Given the description of an element on the screen output the (x, y) to click on. 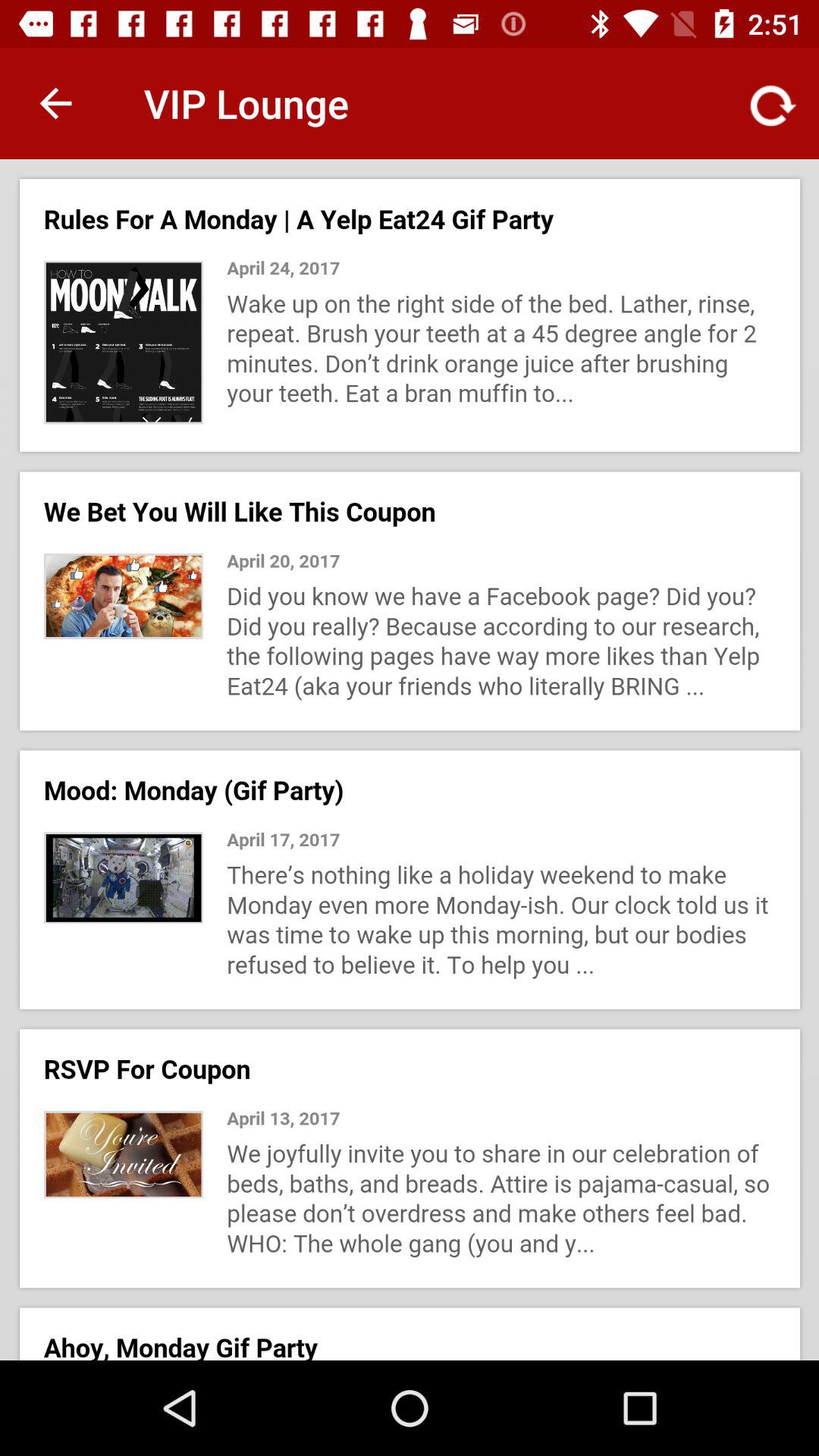
order food for delivery or pickup from a huge selection of local restaurants (409, 759)
